Given the description of an element on the screen output the (x, y) to click on. 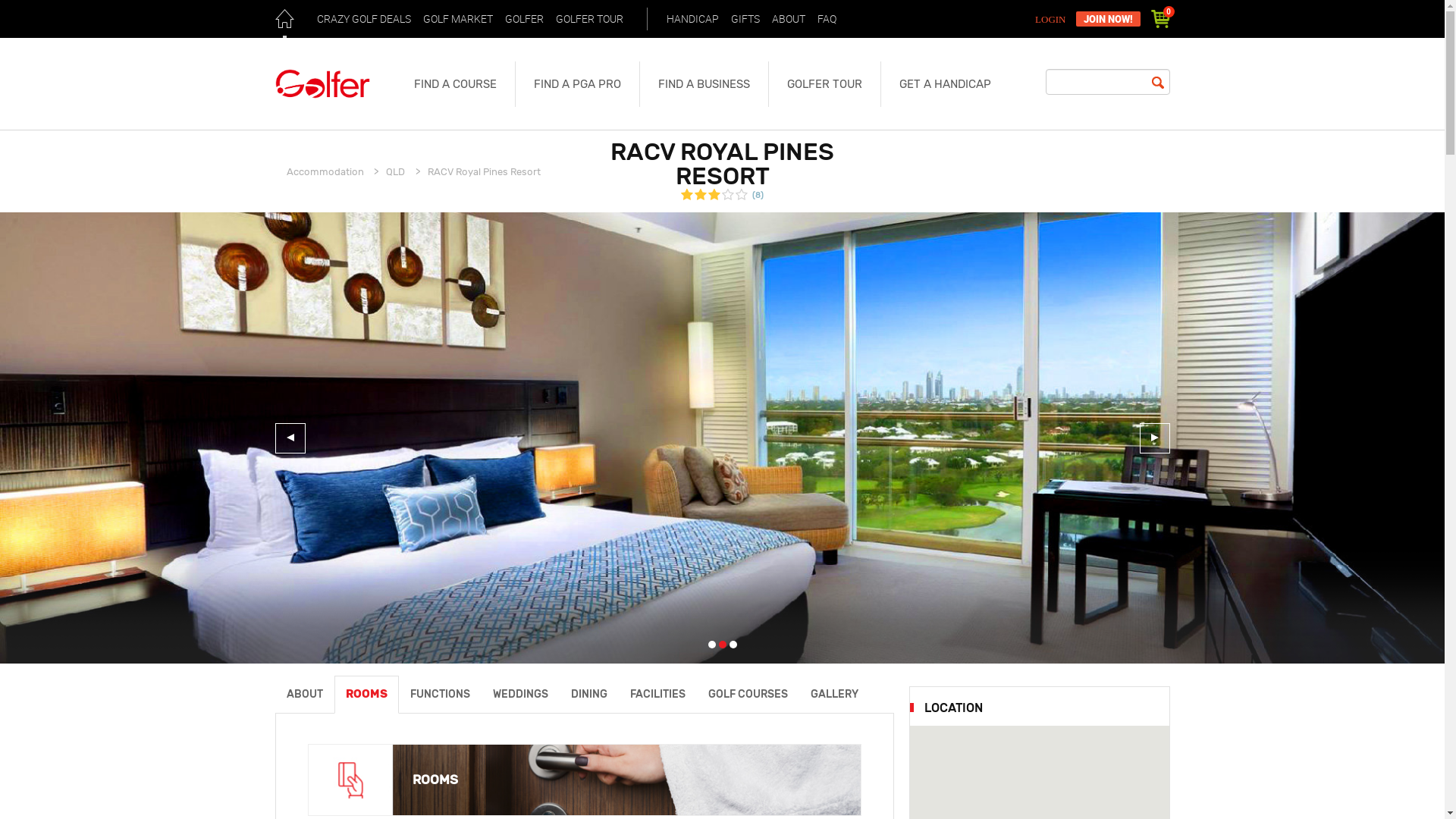
HANDICAP Element type: text (692, 18)
GET A HANDICAP Element type: text (944, 84)
1 Element type: text (711, 644)
GOLFER TOUR Element type: text (589, 18)
ROOMS Element type: text (365, 694)
WEDDINGS Element type: text (519, 694)
DINING Element type: text (588, 694)
GOLF COURSES Element type: text (747, 694)
GOLF MARKET Element type: text (456, 18)
GIFTS Element type: text (744, 18)
FAQ Element type: text (825, 18)
FIND A BUSINESS Element type: text (703, 84)
FUNCTIONS Element type: text (439, 694)
ABOUT Element type: text (787, 18)
GOLFER TOUR Element type: text (823, 84)
ABOUT Element type: text (303, 694)
QLD Element type: text (394, 171)
JOIN NOW! Element type: text (1107, 18)
Accommodation Element type: text (325, 171)
FACILITIES Element type: text (657, 694)
0 Element type: text (1160, 18)
3 Element type: text (733, 644)
FIND A PGA PRO Element type: text (576, 84)
Previous Element type: text (289, 438)
LOGIN Element type: text (1052, 19)
Next Element type: text (1154, 438)
CRAZY GOLF DEALS Element type: text (363, 18)
FIND A COURSE Element type: text (454, 84)
GALLERY Element type: text (834, 694)
GOLFER Element type: text (523, 18)
2 Element type: text (722, 644)
